Given the description of an element on the screen output the (x, y) to click on. 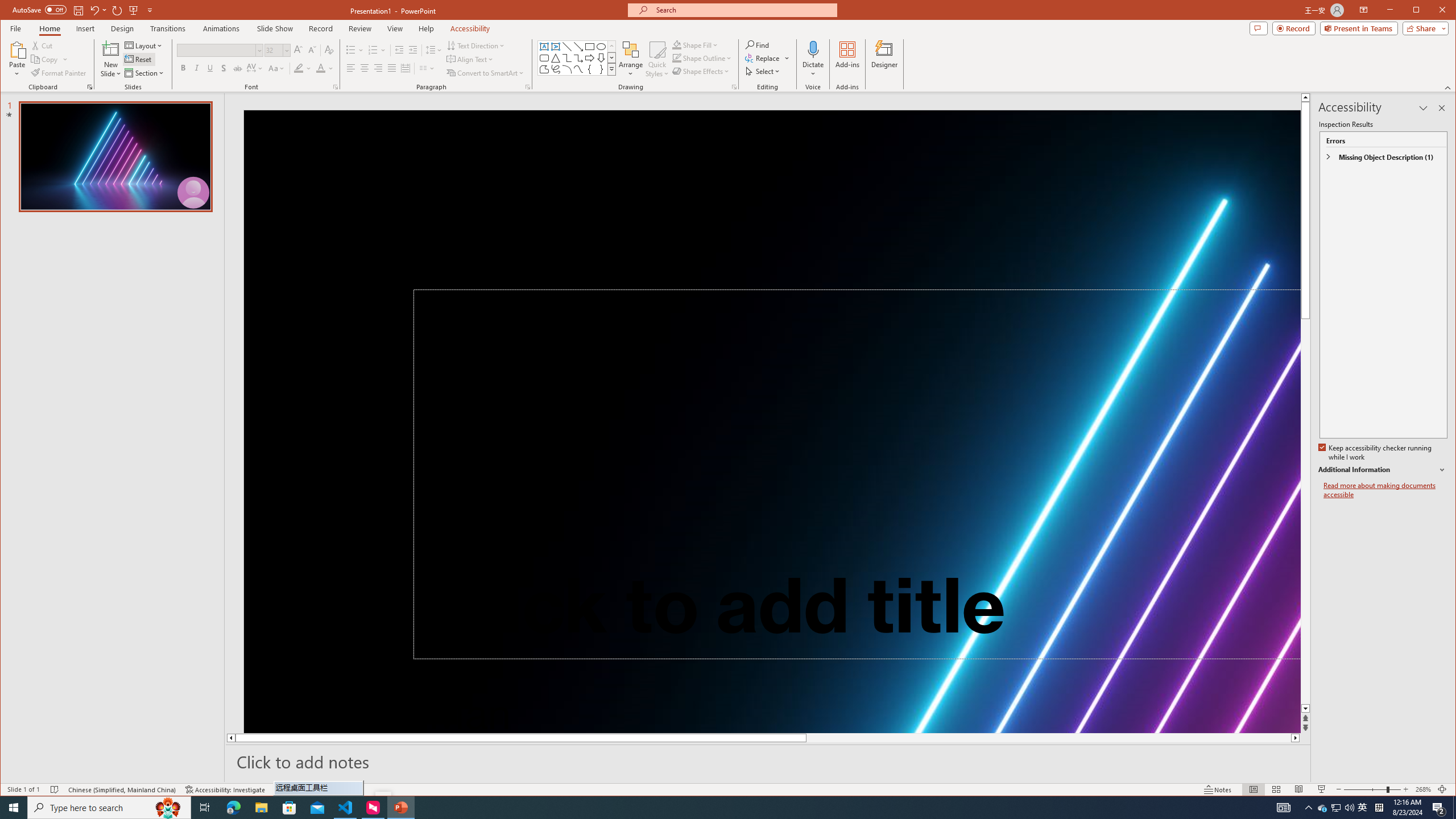
Font Color (324, 68)
Curve (577, 69)
Find... (758, 44)
Zoom 268% (1422, 789)
Layout (143, 45)
Shadow (224, 68)
Slide Notes (767, 761)
Quick Styles (658, 59)
Columns (426, 68)
